Given the description of an element on the screen output the (x, y) to click on. 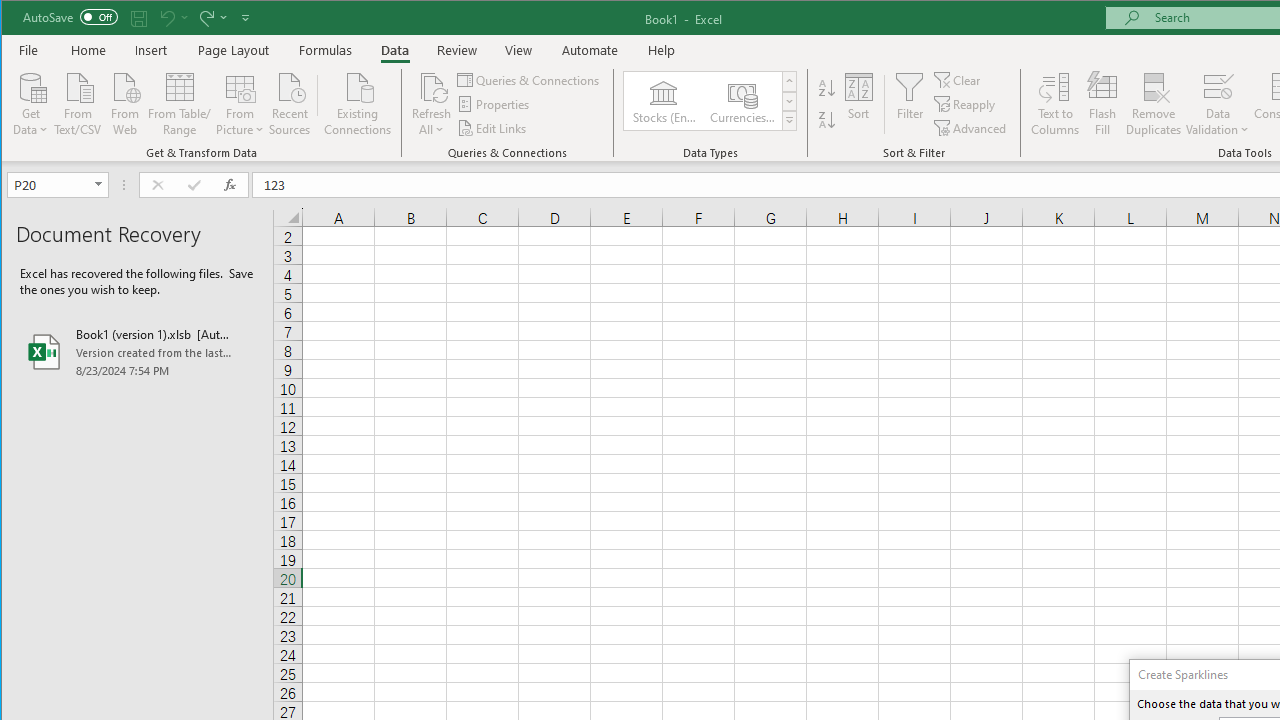
Row up (789, 81)
System (19, 18)
Recent Sources (290, 101)
File Tab (29, 49)
Class: NetUIImage (789, 120)
Currencies (English) (741, 100)
Sort Smallest to Largest (827, 88)
Data Validation... (1217, 104)
Sort Largest to Smallest (827, 119)
Data Validation... (1217, 86)
Automate (589, 50)
Review (456, 50)
Quick Access Toolbar (137, 17)
View (518, 50)
